Given the description of an element on the screen output the (x, y) to click on. 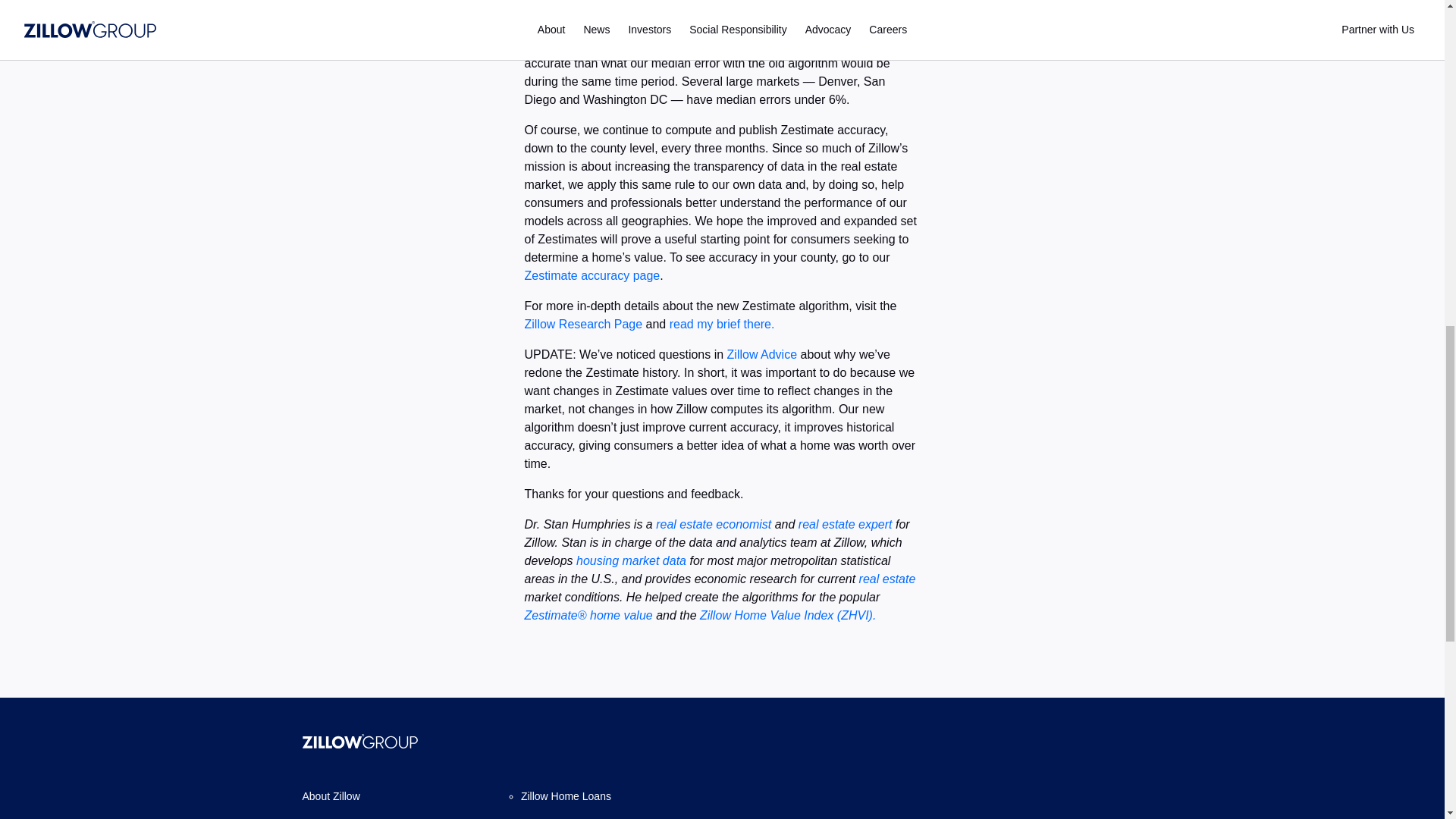
read my brief there. (721, 323)
real estate economist (713, 523)
Zillow Research Page (583, 323)
Zestimate accuracy page (592, 275)
real estate expert (846, 523)
Zillow Advice (761, 354)
